Given the description of an element on the screen output the (x, y) to click on. 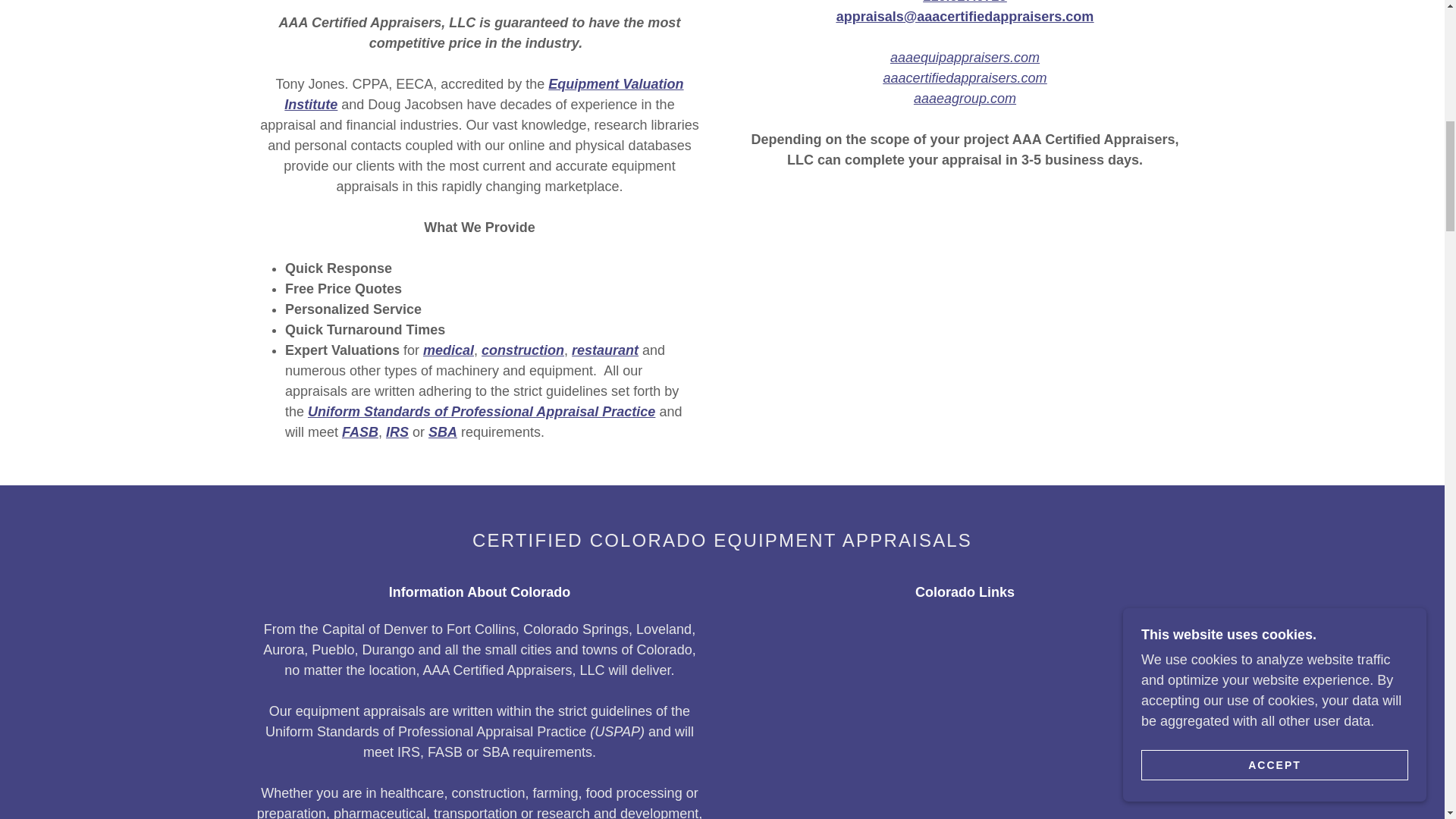
aaacertifiedappraisers.com (964, 77)
Uniform Standards of Professional Appraisal Practice (481, 411)
restaurant (605, 350)
aaaeagroup.com (965, 98)
215.527.5725 (964, 2)
medical (448, 350)
construction (522, 350)
IRS (397, 432)
aaaequipappraisers.com (964, 57)
Equipment Valuation Institute (482, 94)
